Given the description of an element on the screen output the (x, y) to click on. 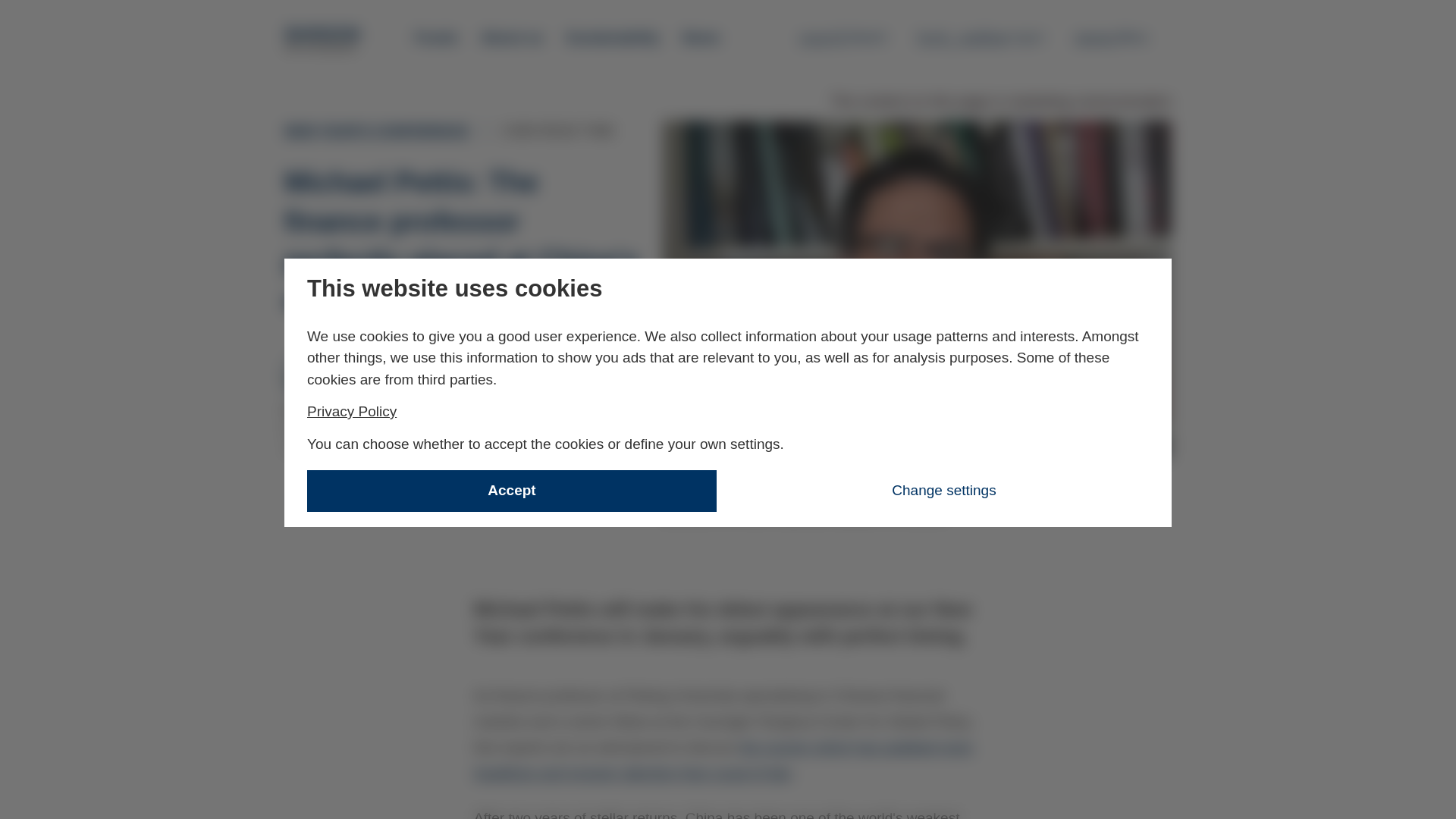
About us (1121, 37)
Funds (511, 37)
SKAGEN Funds (436, 37)
Sustainability (323, 39)
Nick Henderson (612, 37)
China (842, 37)
